Given the description of an element on the screen output the (x, y) to click on. 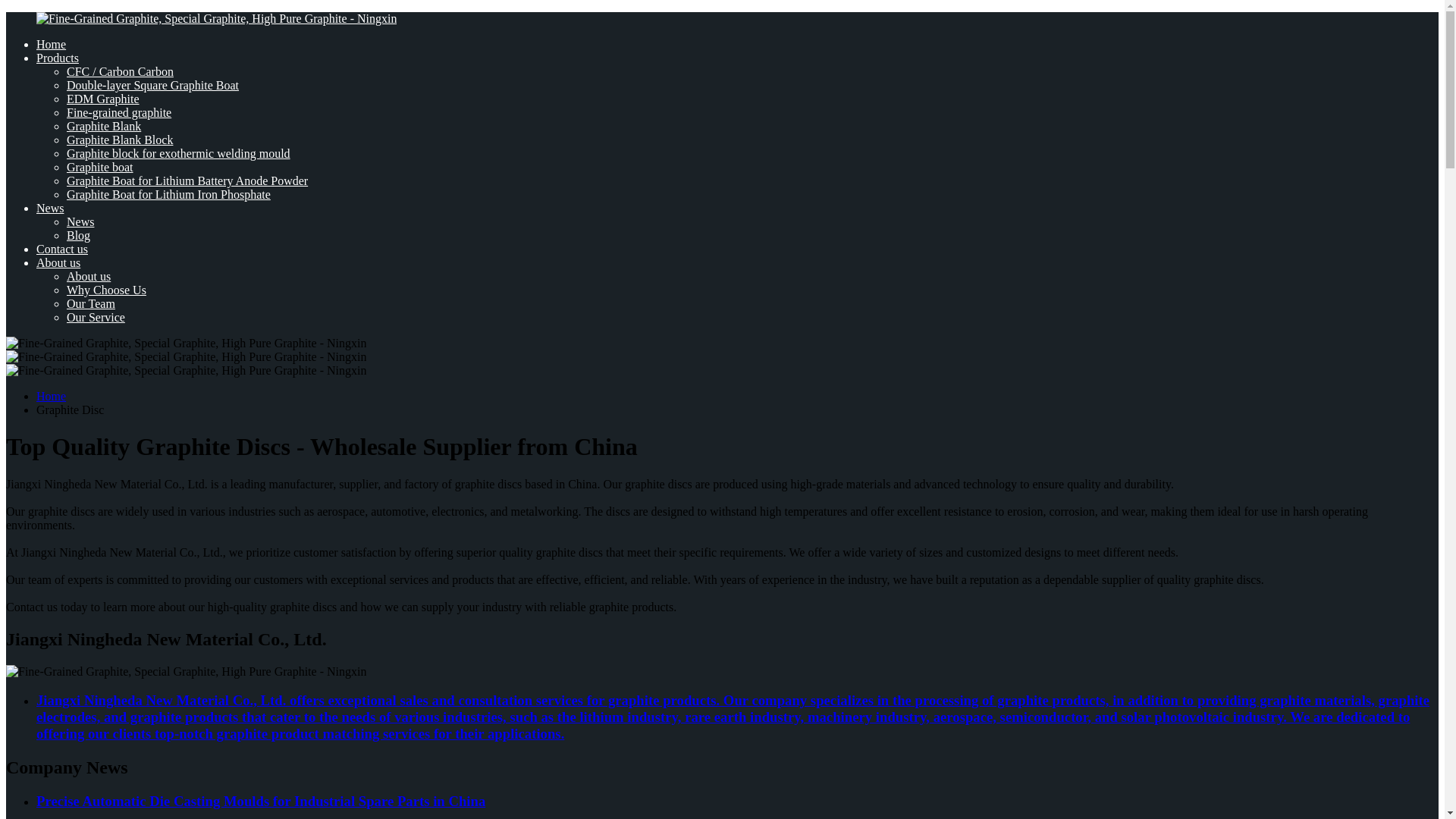
Our Team (90, 303)
Graphite boat (99, 166)
Graphite block for exothermic welding mould (177, 153)
EDM Graphite (102, 98)
Fine-grained graphite (118, 112)
Contact us (61, 248)
Graphite Blank (103, 125)
Graphite Blank Block (119, 139)
Graphite Boat for Lithium Iron Phosphate (168, 194)
Graphite Boat for Lithium Battery Anode Powder (186, 180)
News (80, 221)
Blog (78, 235)
Home (50, 395)
Products (57, 57)
About us (58, 262)
